Given the description of an element on the screen output the (x, y) to click on. 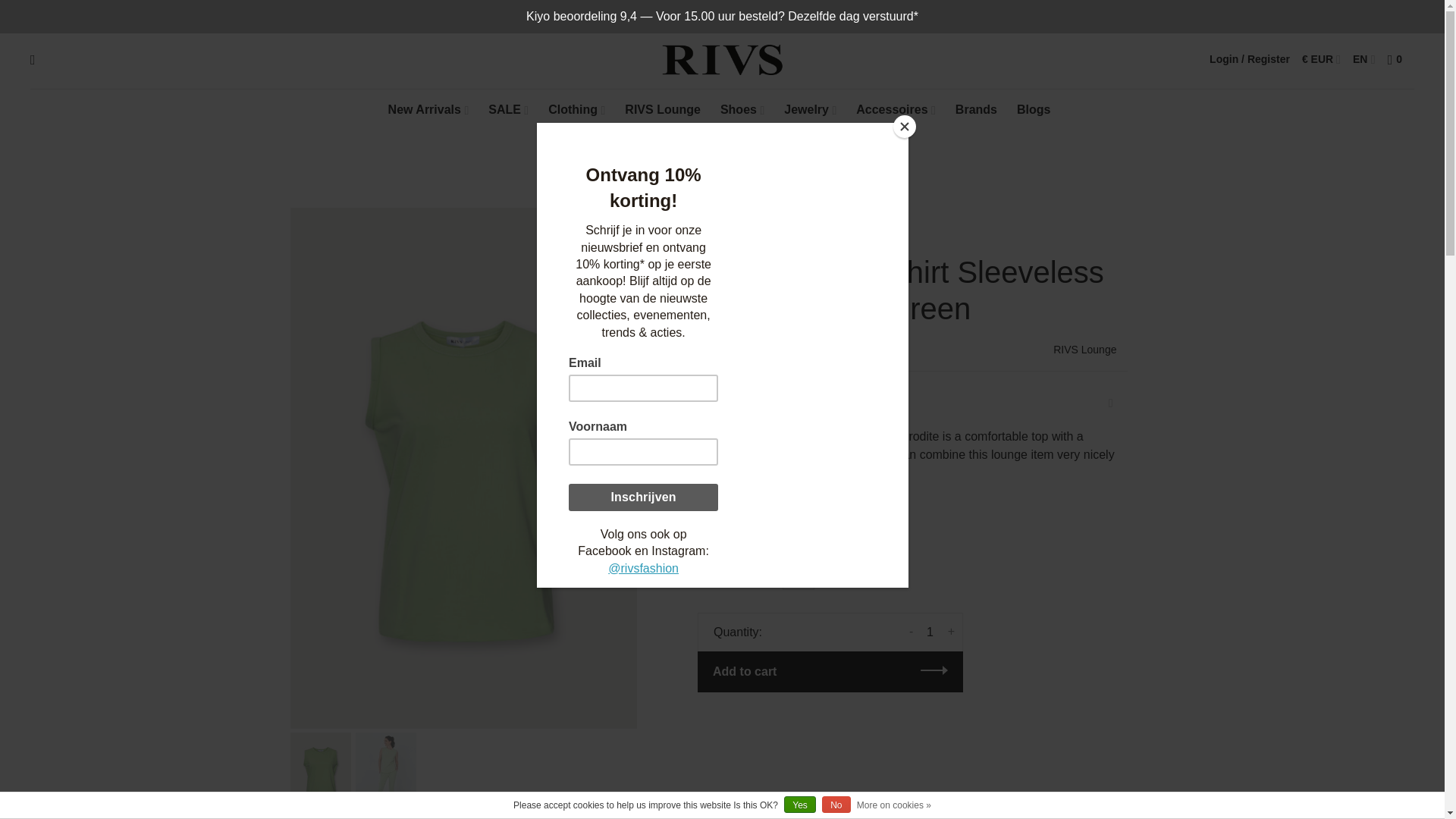
SALE (504, 109)
Clothing (572, 109)
New Arrivals (424, 109)
1 (929, 632)
